Given the description of an element on the screen output the (x, y) to click on. 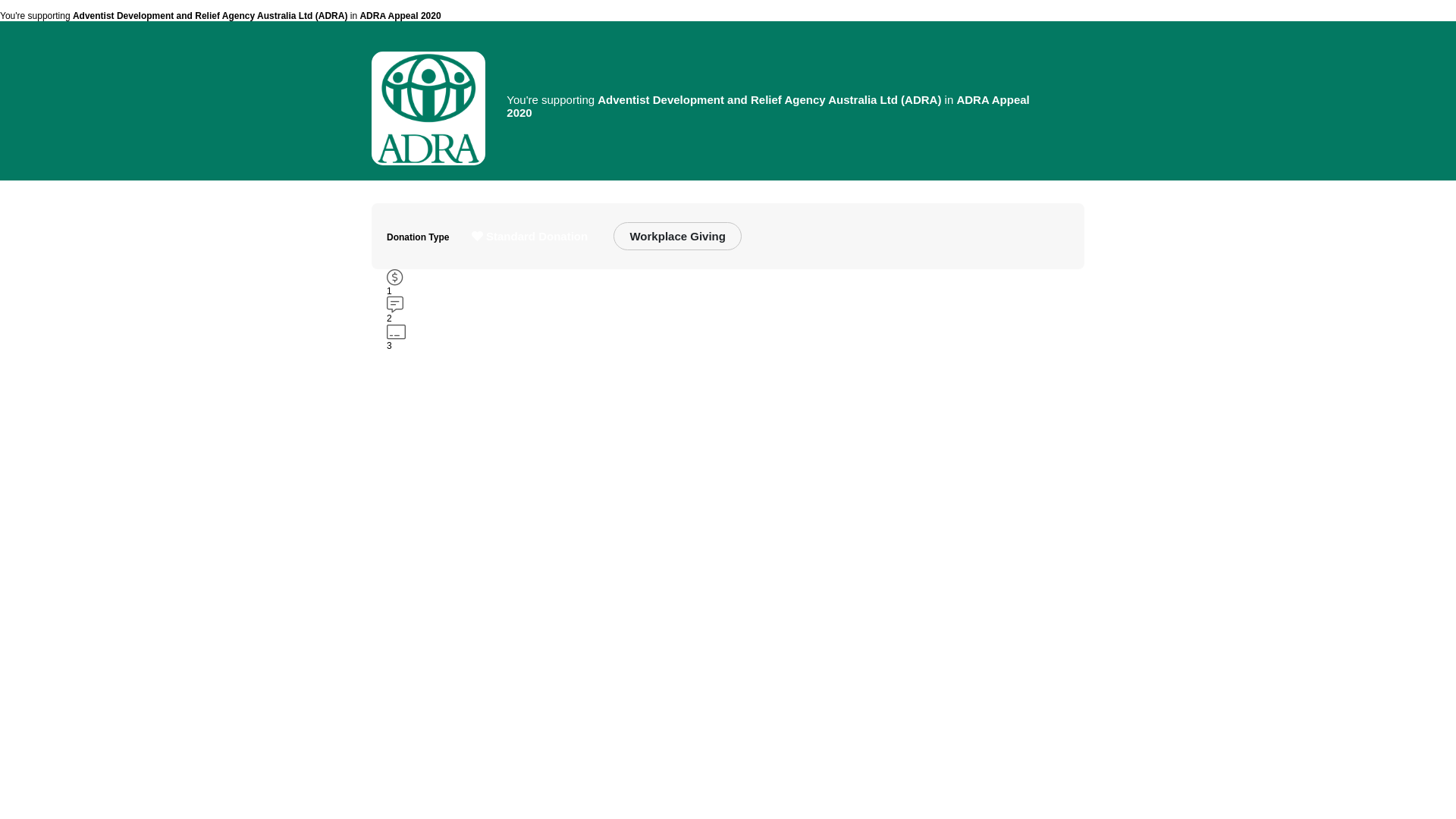
Back Element type: text (1067, 9)
Back Element type: text (387, 9)
